Given the description of an element on the screen output the (x, y) to click on. 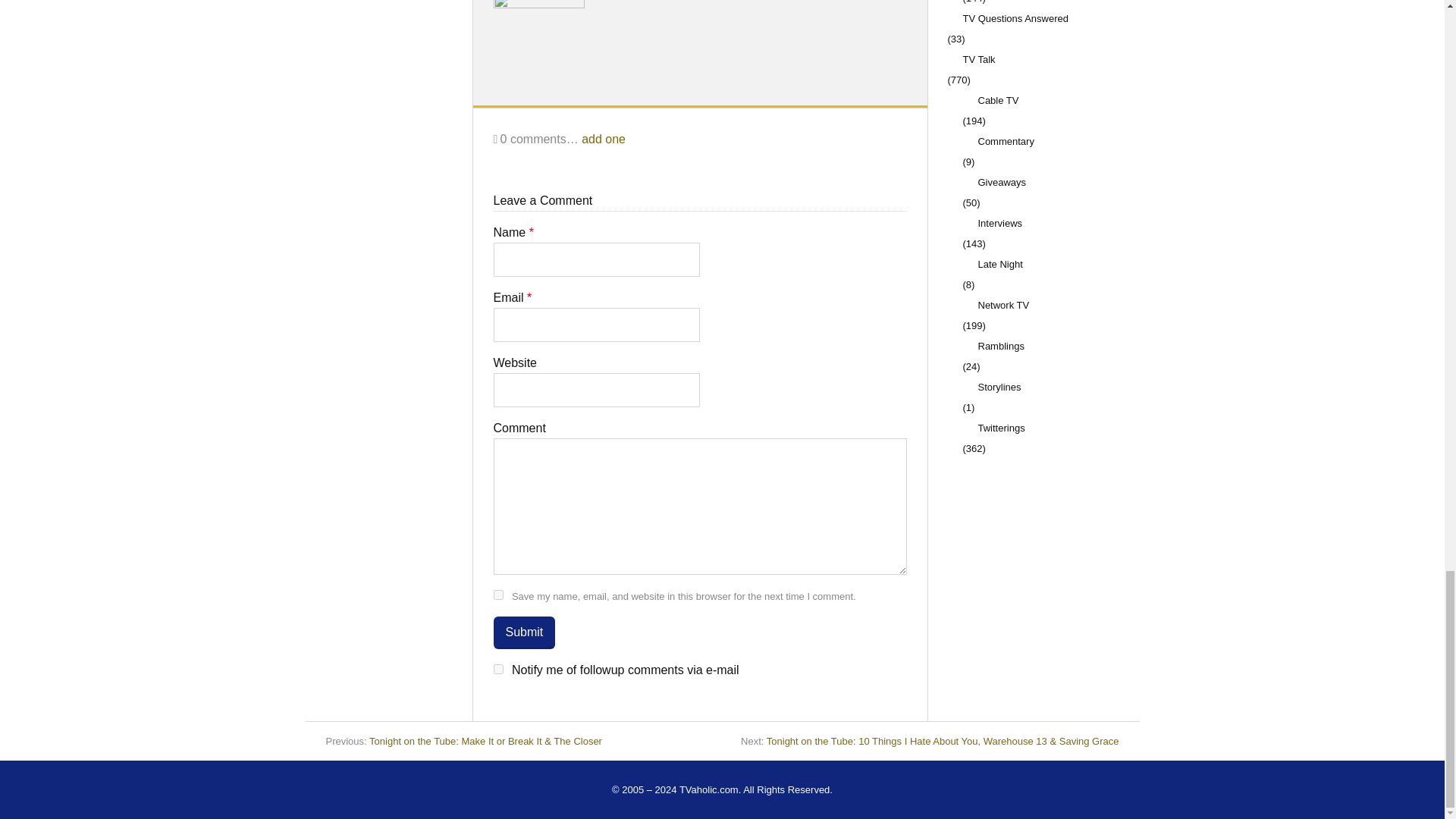
Required (529, 297)
yes (497, 594)
subscribe (497, 669)
Submit (523, 632)
Required (531, 232)
add one (603, 138)
Submit (523, 632)
